Given the description of an element on the screen output the (x, y) to click on. 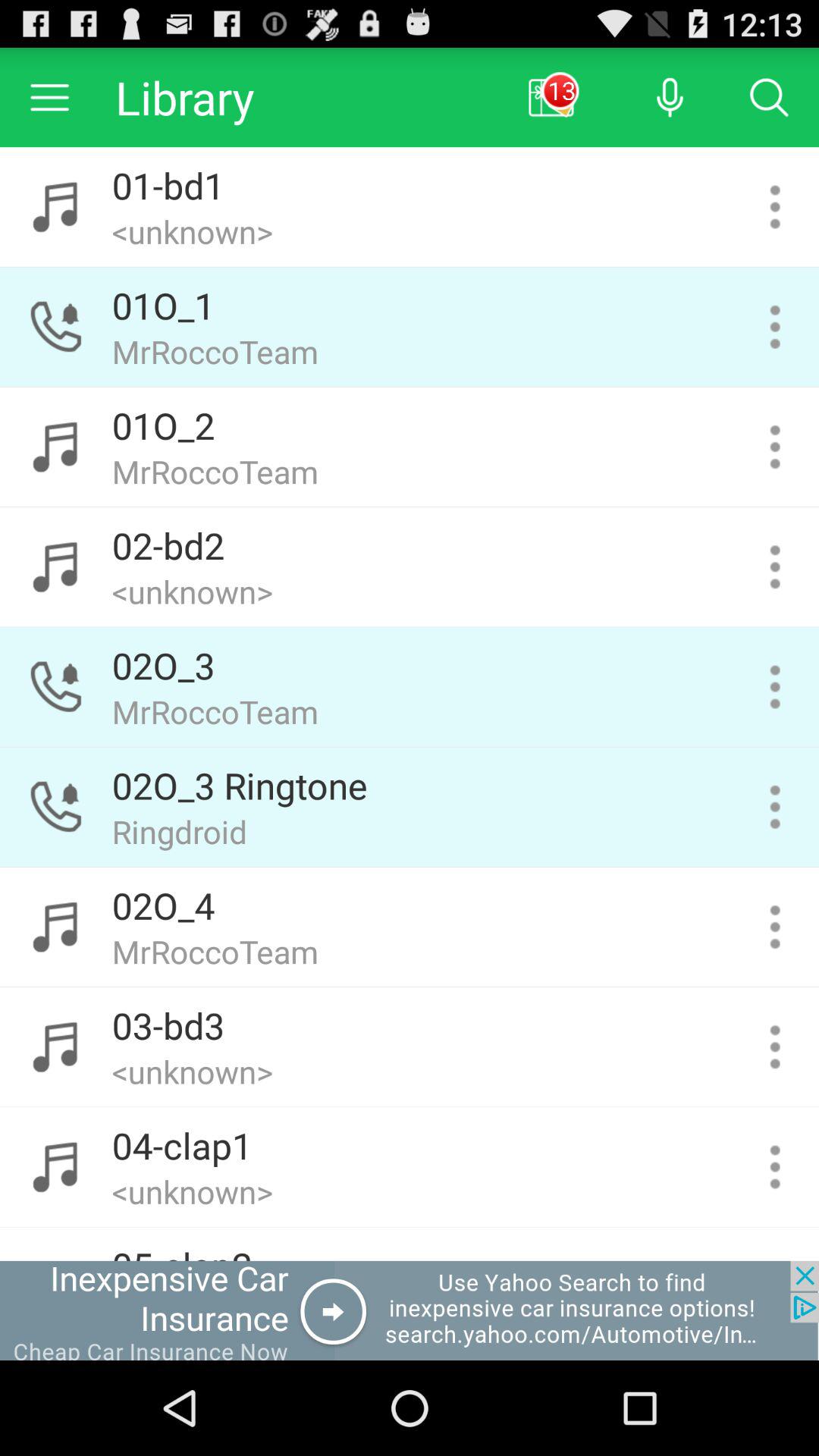
more details (775, 926)
